Given the description of an element on the screen output the (x, y) to click on. 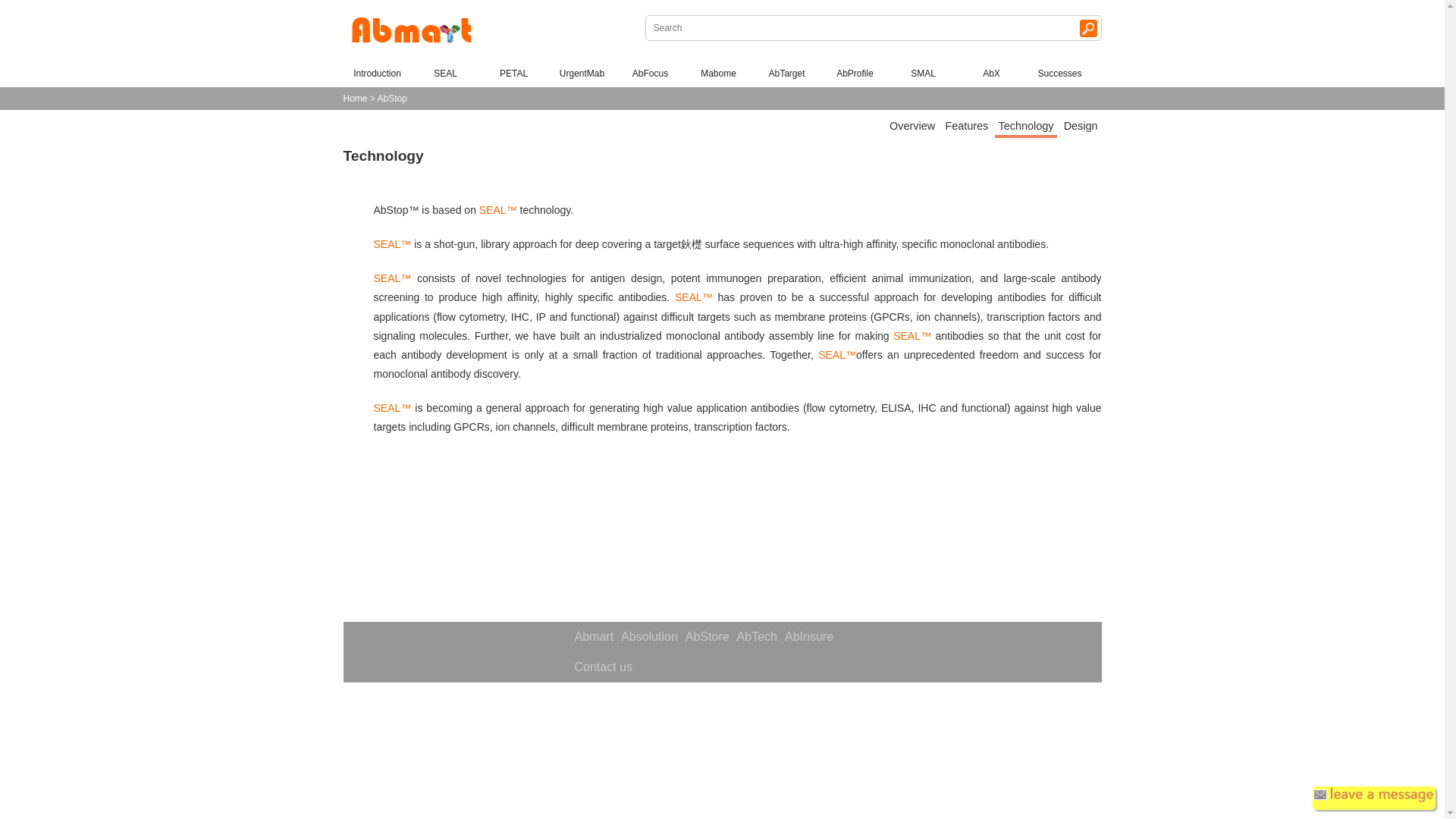
AbFocus (649, 73)
AbTarget (786, 73)
Features (965, 126)
AbX (991, 73)
AbTech (756, 636)
UrgentMab (581, 73)
Technology (1026, 127)
Technology (382, 155)
Abmart (593, 636)
PETAL (513, 73)
Successes (1059, 73)
Absolution (649, 636)
SEAL (445, 73)
SMAL (922, 73)
AbStore (707, 636)
